Given the description of an element on the screen output the (x, y) to click on. 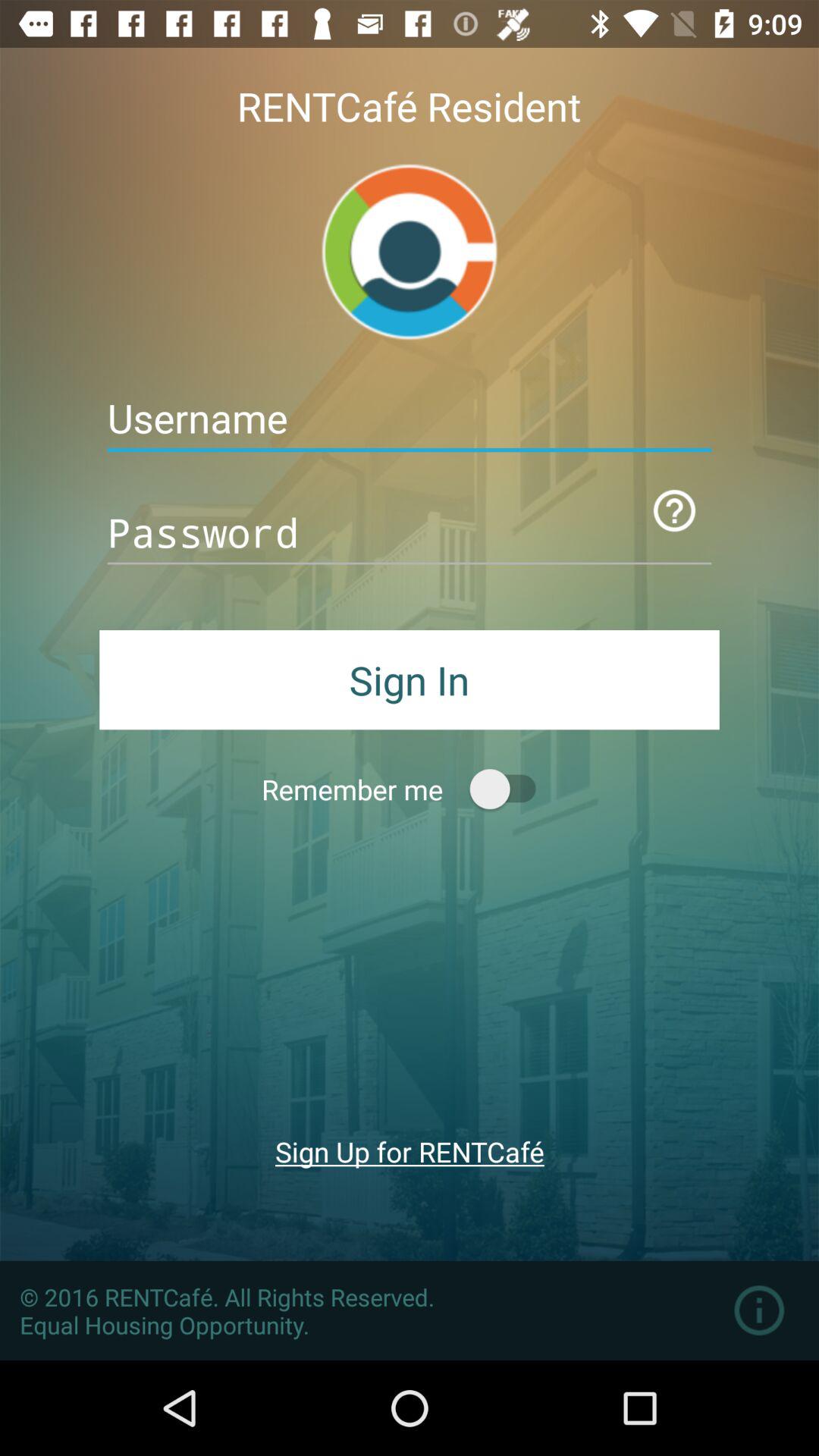
remember me turned off (509, 789)
